Given the description of an element on the screen output the (x, y) to click on. 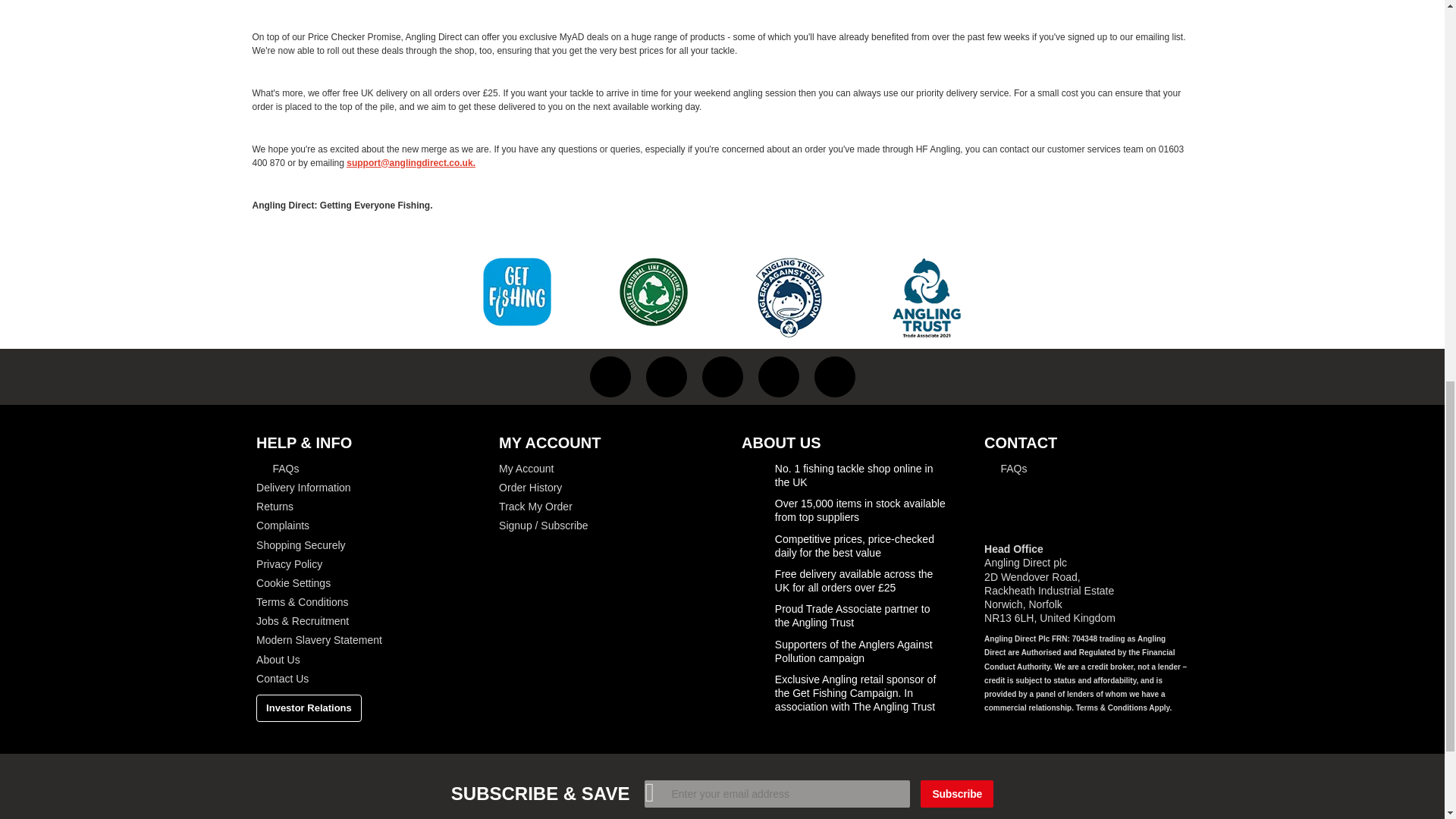
Join us on Facebook (609, 376)
Follow Angling Direct on Instagram (721, 376)
ANLRS (653, 291)
Get Fishing (517, 291)
